Given the description of an element on the screen output the (x, y) to click on. 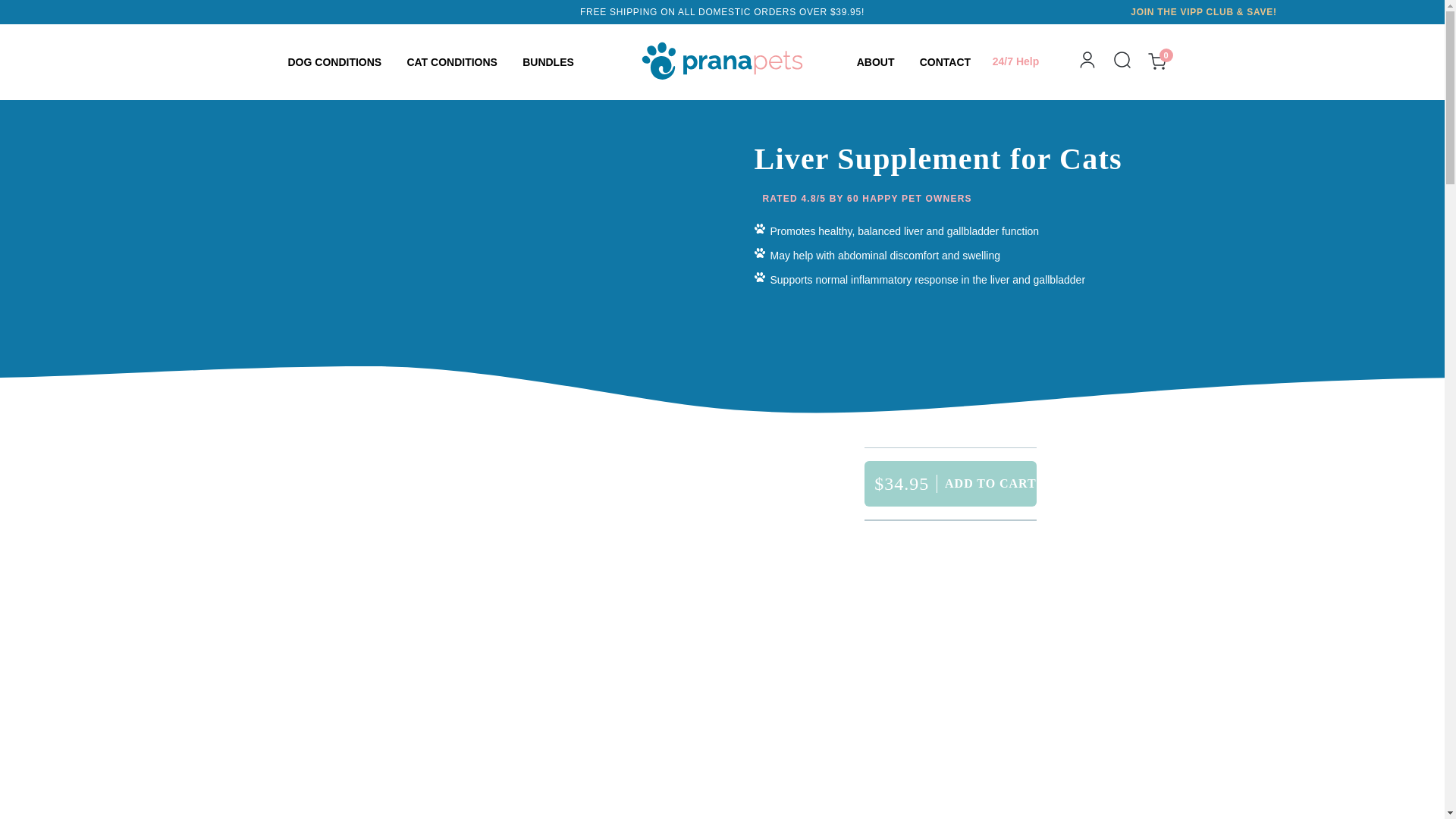
DOG CONDITIONS (334, 61)
CAT CONDITIONS (451, 61)
CONTACT (945, 61)
ABOUT (874, 61)
BUNDLES (547, 61)
